Given the description of an element on the screen output the (x, y) to click on. 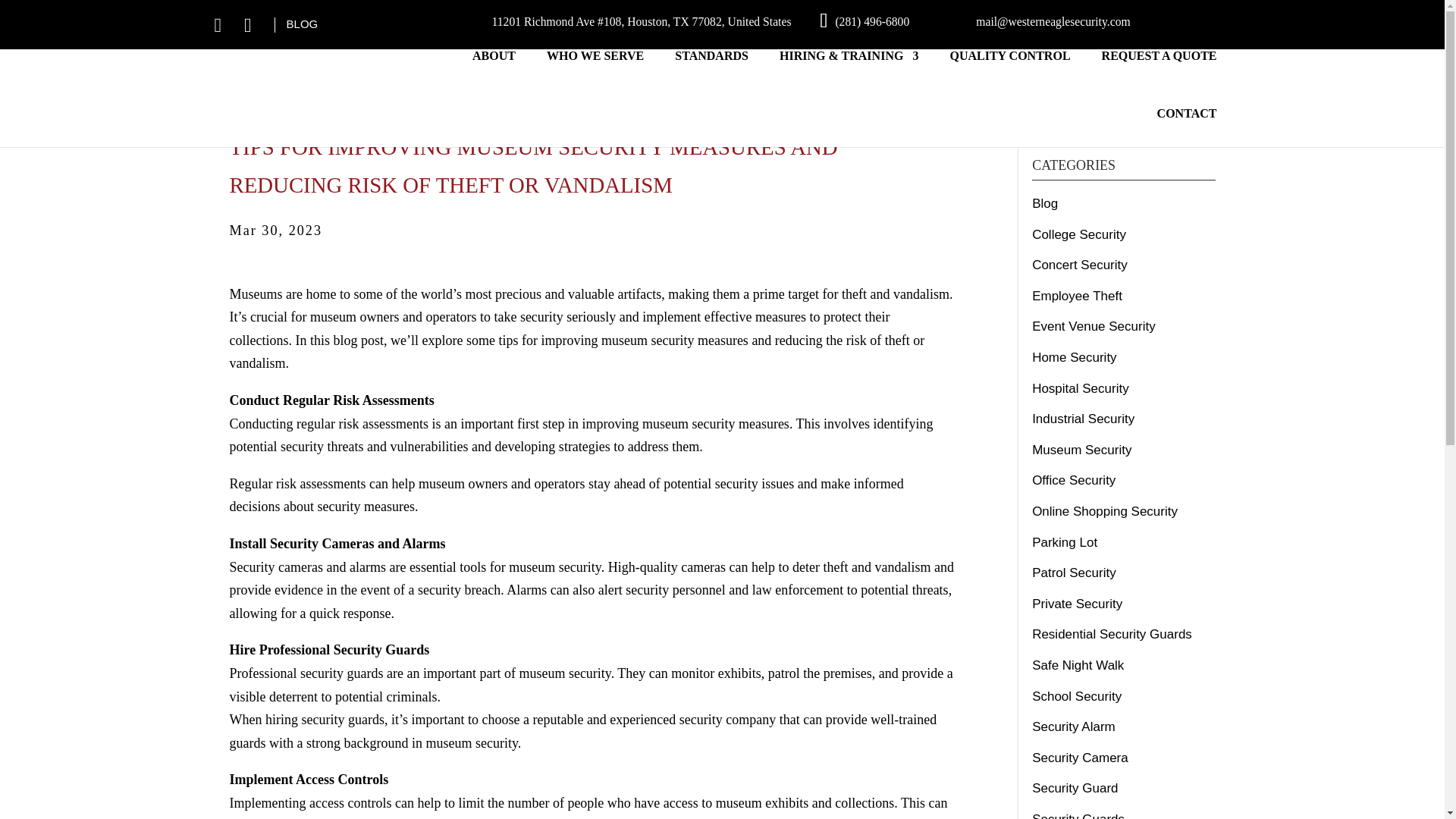
Museum Security (1081, 450)
Event Venue Security (1094, 326)
Security Guard (1075, 788)
Private Security (1077, 603)
REQUEST A QUOTE (1159, 68)
Industrial Security (1083, 418)
Blog (1045, 203)
School Security (1076, 695)
College Security (1078, 234)
Security Alarm (1073, 726)
ABOUT (493, 68)
QUALITY CONTROL (1009, 68)
Safe Night Walk (1078, 665)
Residential Security Guards (1112, 634)
BLOG (302, 23)
